Given the description of an element on the screen output the (x, y) to click on. 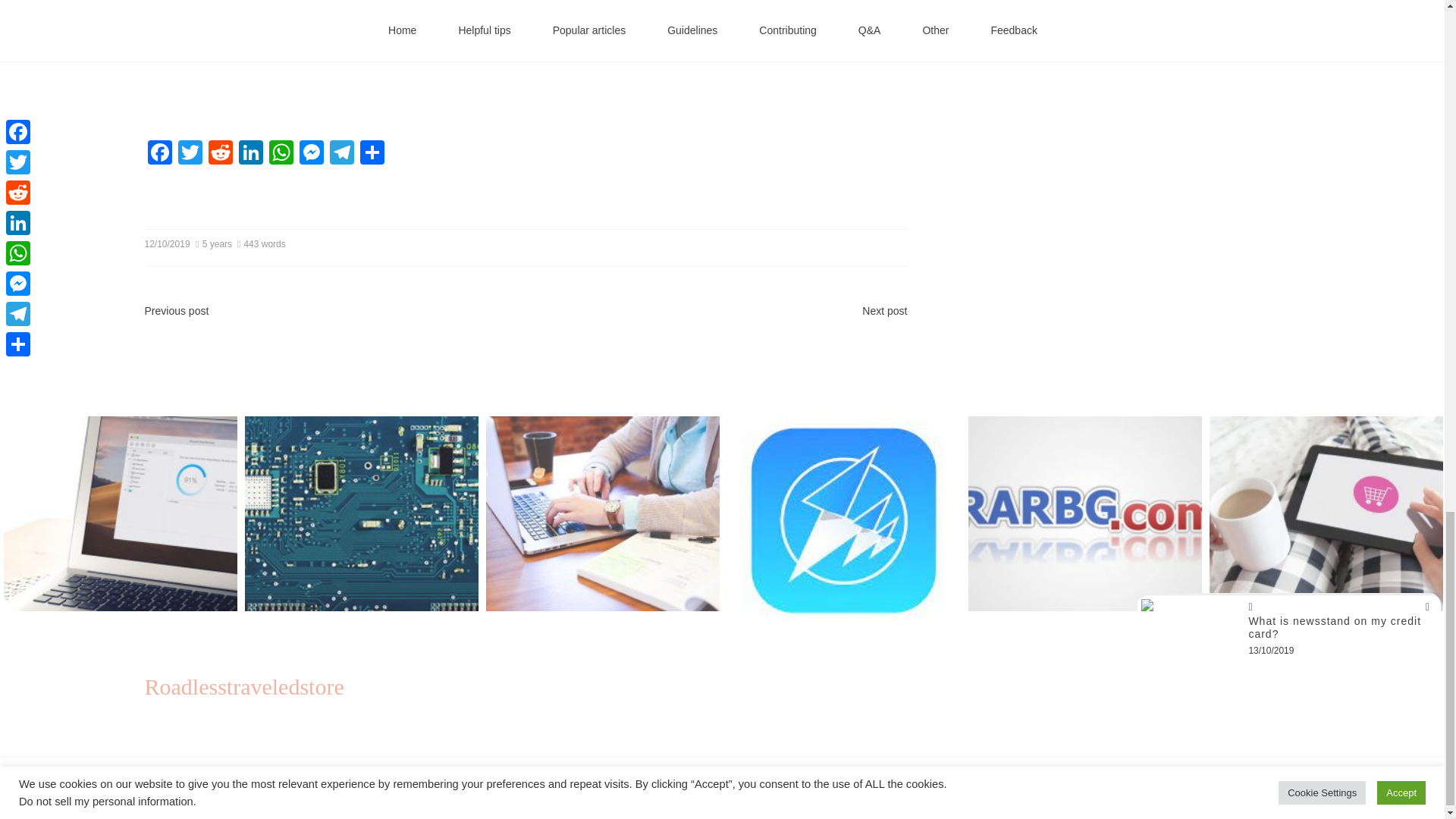
Next post (884, 310)
Interstate Batteries Pro ECL (386, 56)
Reddit (219, 154)
WhatsApp (279, 154)
LinkedIn (249, 154)
Reddit (219, 154)
WhatsApp (279, 154)
Share (371, 154)
Previous post (176, 310)
Twitter (189, 154)
Twitter (189, 154)
Telegram (341, 154)
Messenger (310, 154)
LinkedIn (249, 154)
5 years (214, 243)
